Given the description of an element on the screen output the (x, y) to click on. 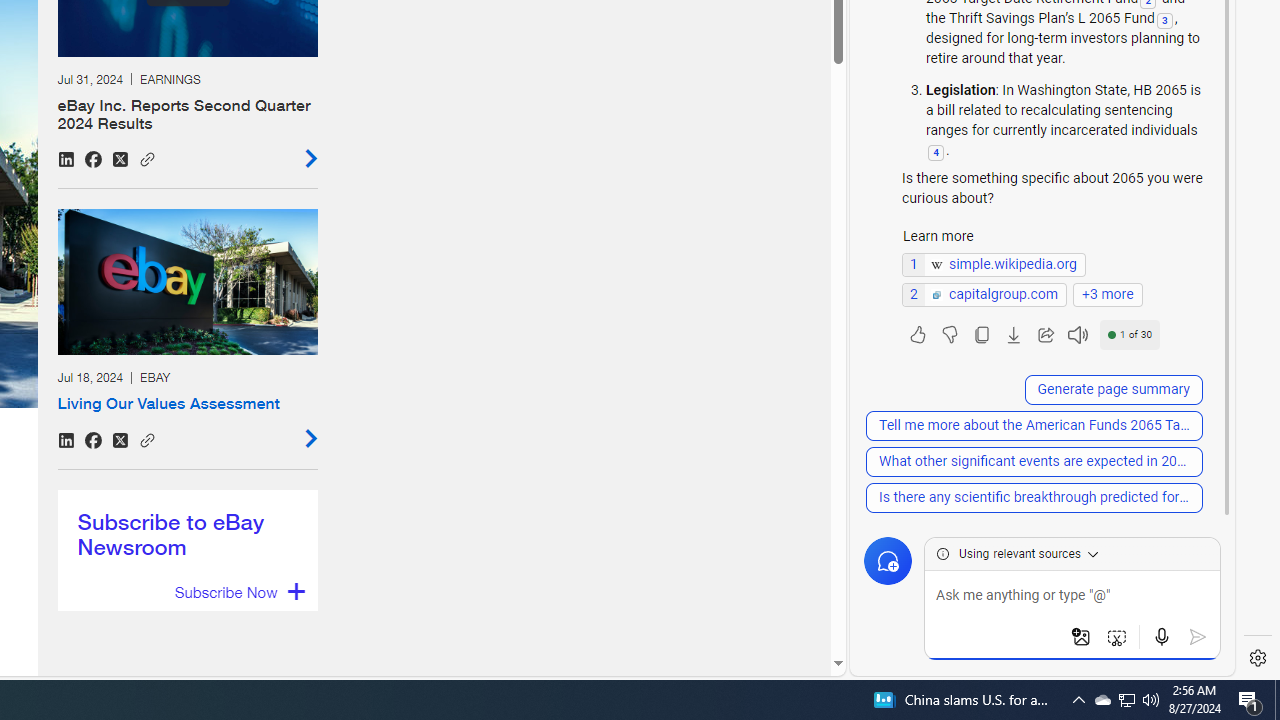
Share on Facebook (93, 440)
Share on X (Twitter) (120, 440)
Copy link to clipboard (147, 437)
Share on LinkedIn (66, 440)
Article: Living Our Values Assessment (187, 328)
Expand Subscribe to eBay Newsroom (237, 592)
